Given the description of an element on the screen output the (x, y) to click on. 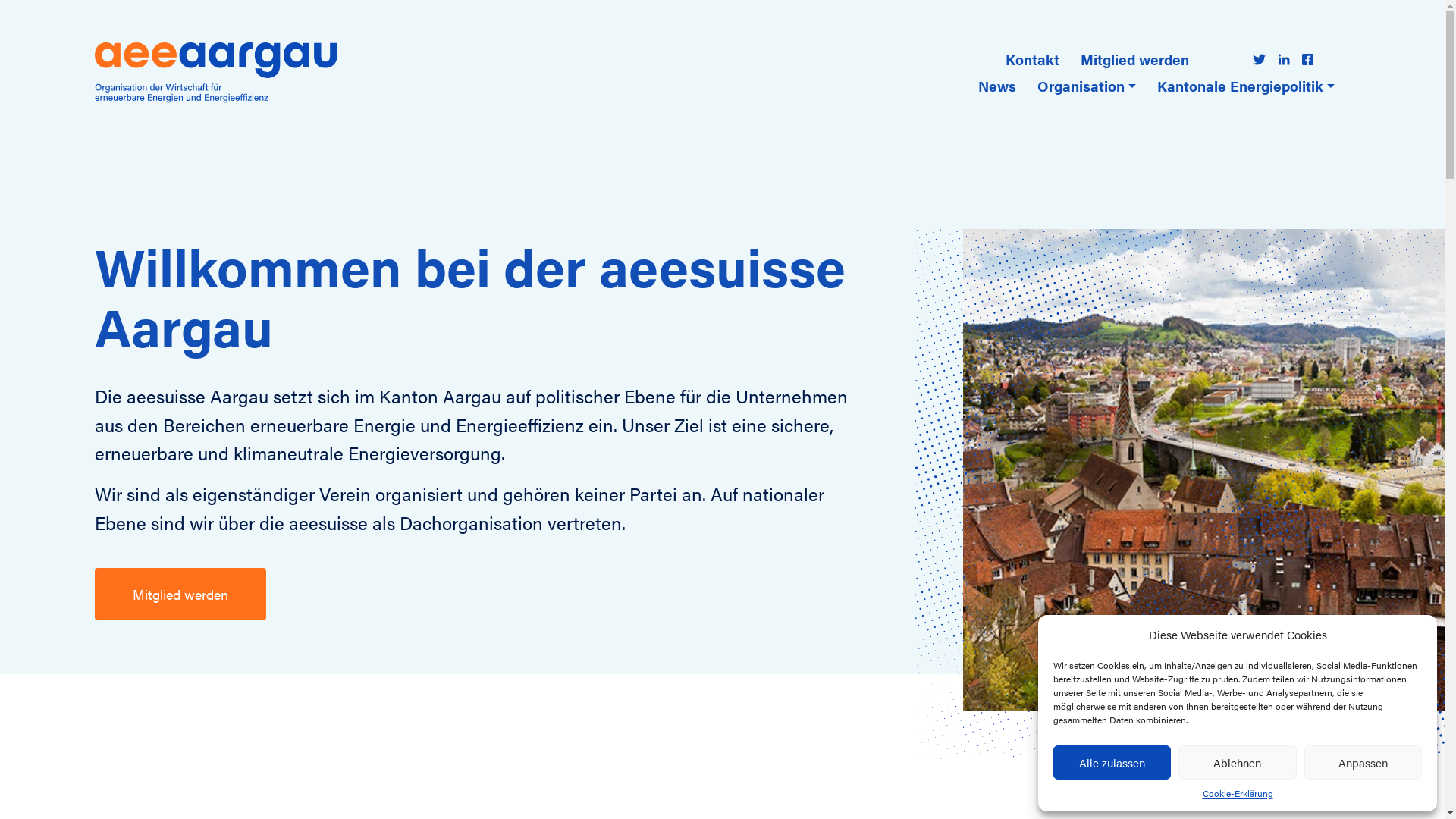
Ablehnen Element type: text (1236, 762)
Mitglied werden Element type: text (180, 593)
Anpassen Element type: text (1362, 762)
Alle zulassen Element type: text (1111, 762)
Kantonale Energiepolitik Element type: text (1245, 85)
Kontakt Element type: text (1032, 59)
News Element type: text (997, 85)
logo-twitter Element type: text (1258, 59)
Organisation Element type: text (1086, 85)
Mitglied werden Element type: text (1134, 59)
